Given the description of an element on the screen output the (x, y) to click on. 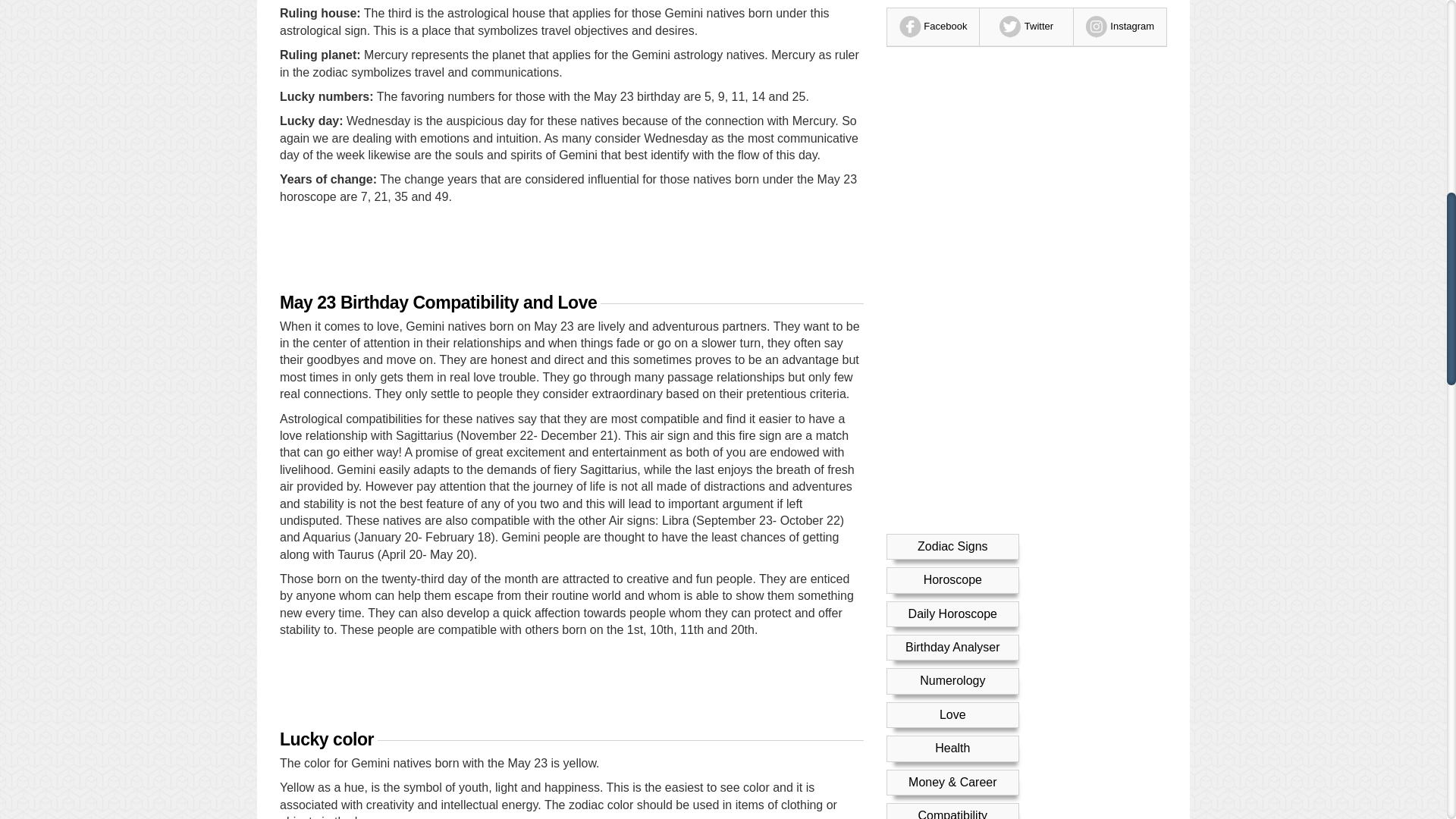
Advertisement (571, 688)
Advertisement (571, 246)
